Given the description of an element on the screen output the (x, y) to click on. 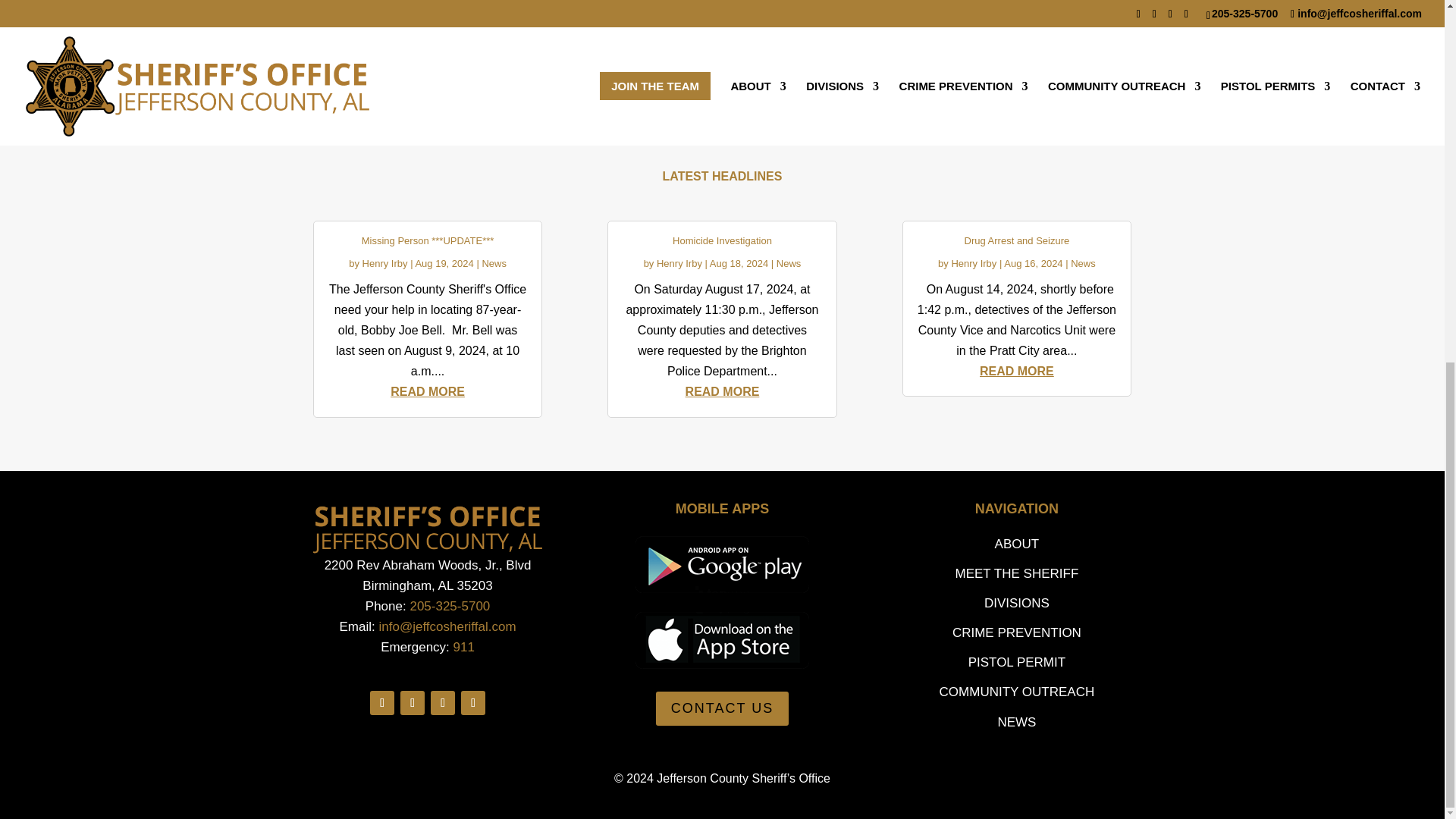
Follow on Facebook (381, 702)
Follow on Youtube (442, 702)
Follow on X (412, 702)
Posts by Henry Irby (972, 263)
Posts by Henry Irby (384, 263)
Follow on Instagram (472, 702)
Posts by Henry Irby (678, 263)
Jeff Co Sheriff Dept Website Footer Logo 5.27.20 (427, 528)
